Given the description of an element on the screen output the (x, y) to click on. 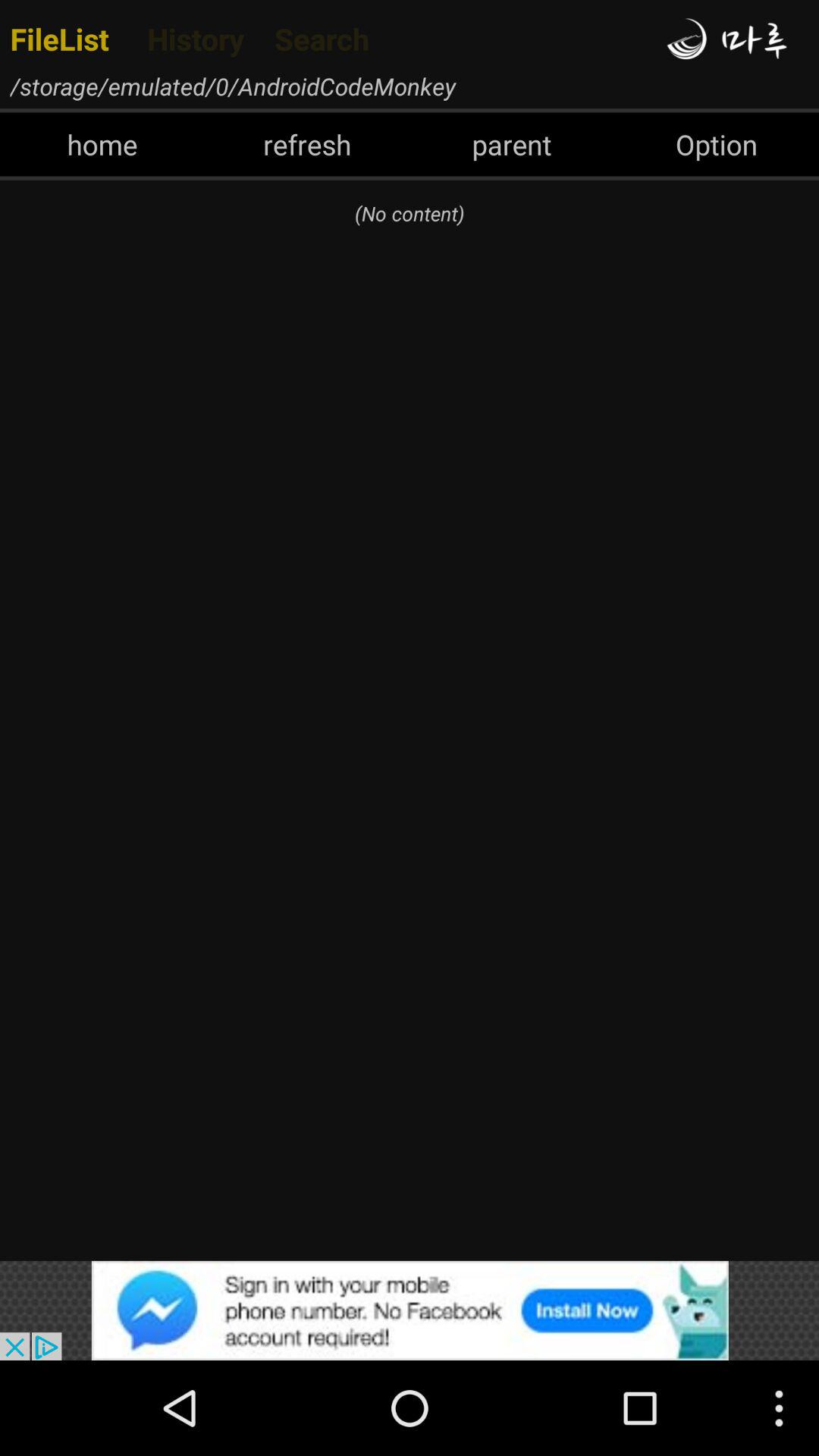
click the advertisement (409, 1310)
